Given the description of an element on the screen output the (x, y) to click on. 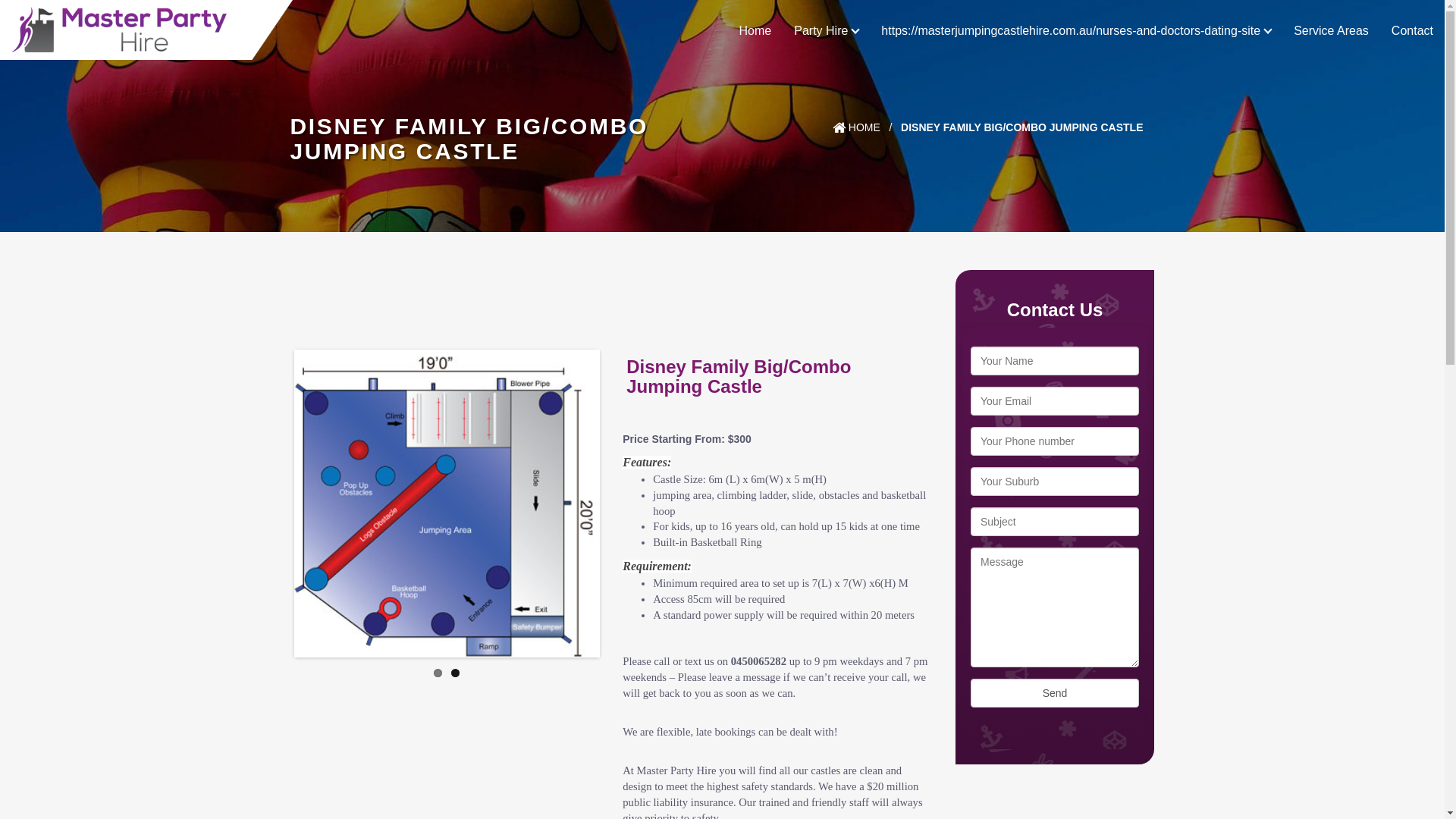
2 Element type: text (455, 670)
Send Element type: text (1054, 692)
Contact Element type: text (1412, 25)
Service Areas Element type: text (1331, 25)
HOME Element type: text (856, 127)
1 Element type: text (437, 670)
Home Element type: text (755, 25)
Jumping Castle Hire Melbourne Element type: hover (146, 18)
Party Hire Element type: text (825, 25)
